Given the description of an element on the screen output the (x, y) to click on. 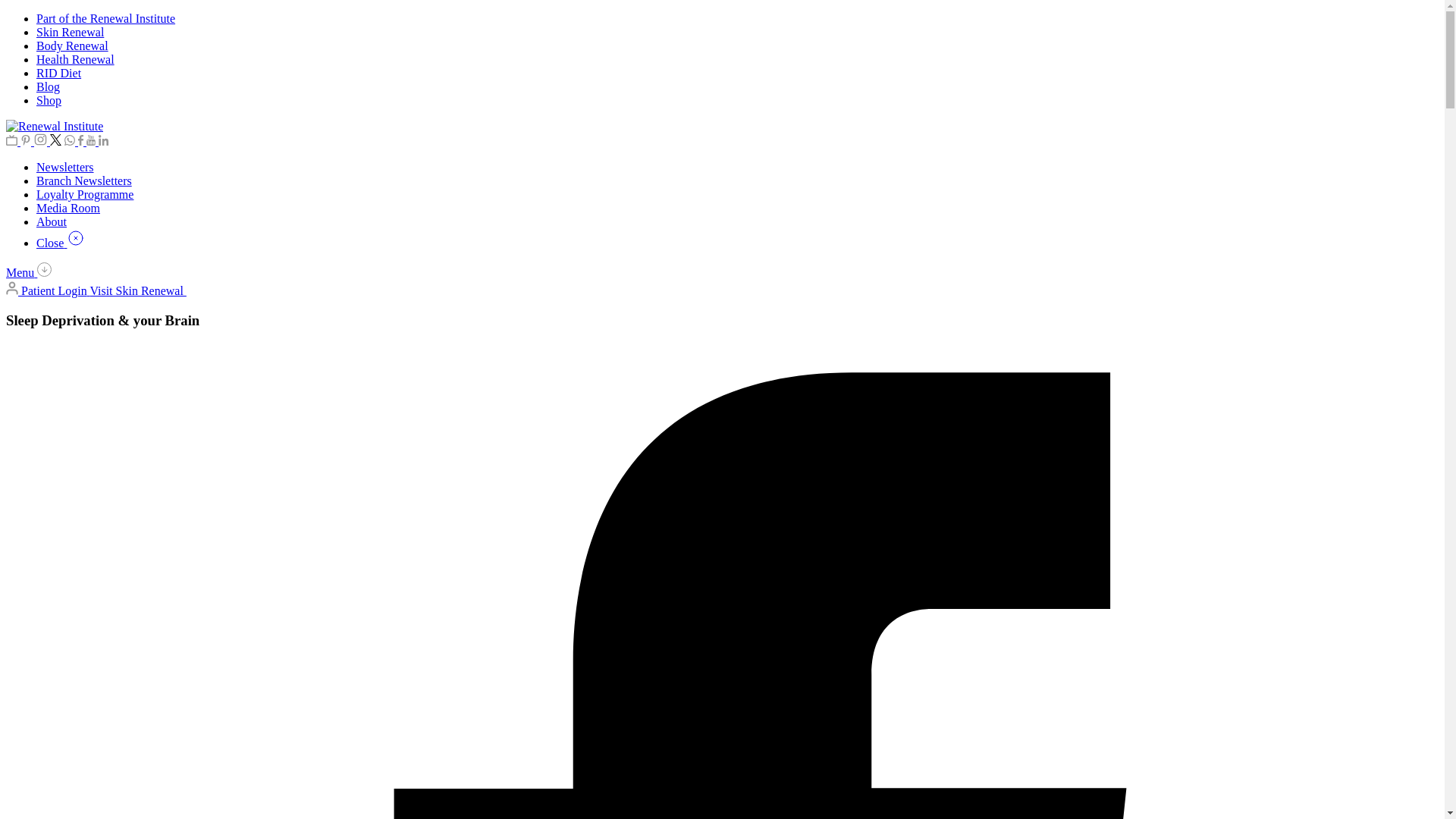
Branch Newsletters (84, 180)
Skin Renewal (69, 31)
About (51, 221)
Loyalty Programme (84, 194)
Visit Skin Renewal (144, 290)
Part of the Renewal Institute (105, 18)
Close (60, 242)
Body Renewal (71, 45)
Media Room (68, 207)
Newsletters (65, 166)
Shop (48, 100)
Menu (27, 272)
Patient Login (46, 290)
RID Diet (58, 72)
Blog (47, 86)
